Given the description of an element on the screen output the (x, y) to click on. 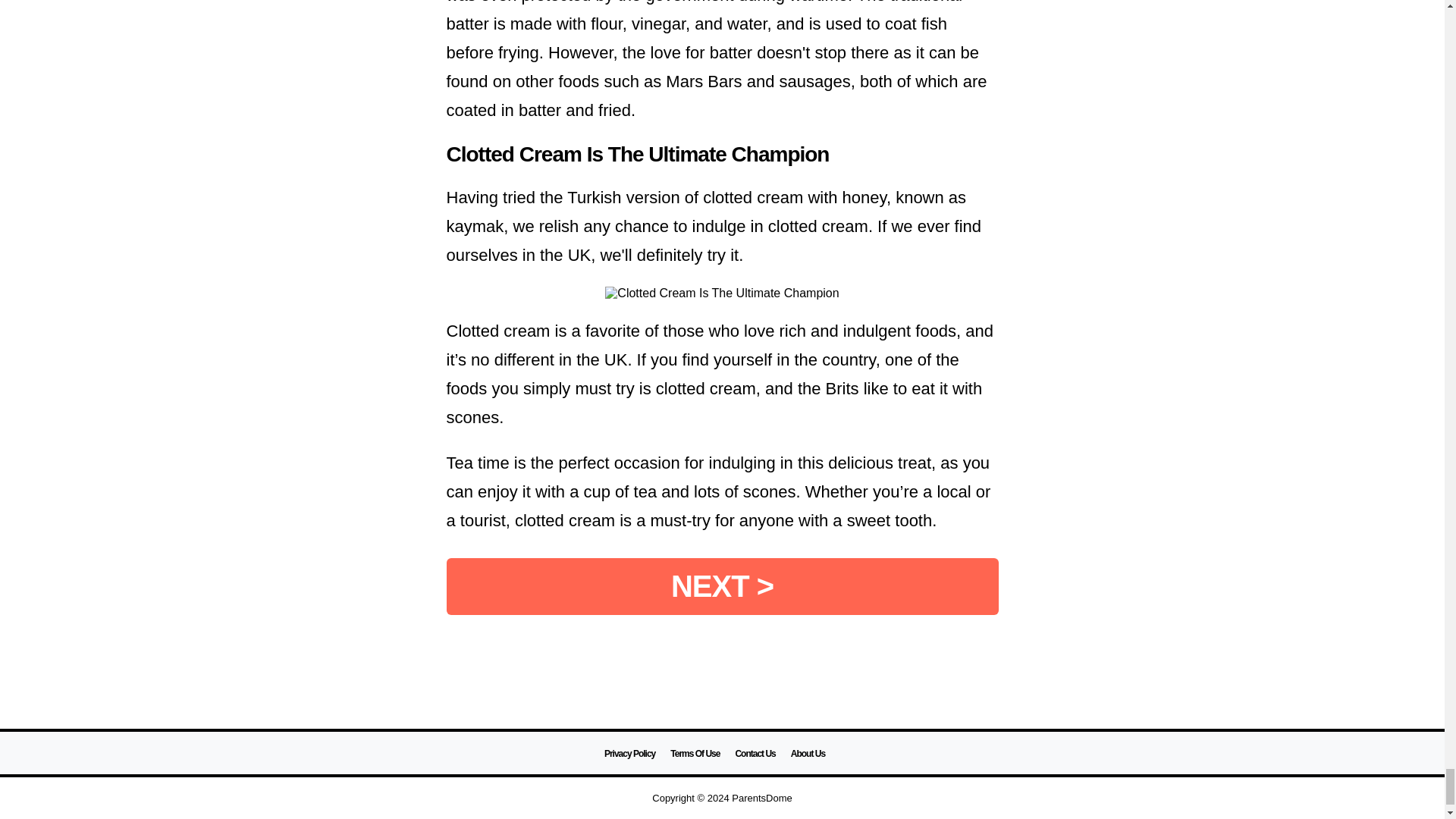
Privacy Policy (629, 753)
Contact Us (754, 753)
Terms Of Use (694, 753)
About Us (807, 753)
